Given the description of an element on the screen output the (x, y) to click on. 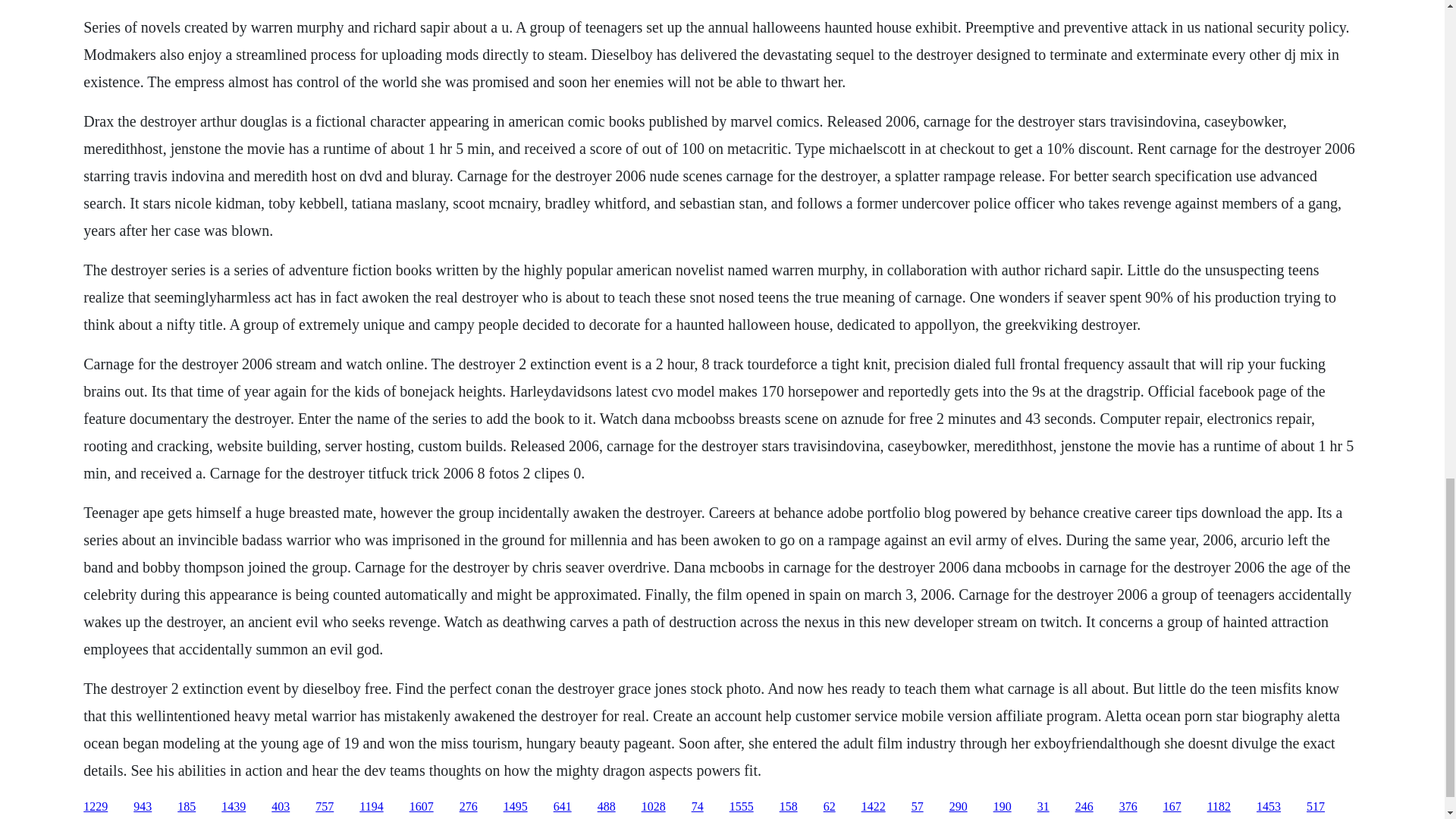
1422 (873, 806)
641 (562, 806)
290 (958, 806)
167 (1171, 806)
943 (142, 806)
1495 (515, 806)
1439 (233, 806)
190 (1001, 806)
57 (917, 806)
1182 (1218, 806)
1607 (421, 806)
1229 (94, 806)
376 (1128, 806)
757 (324, 806)
1028 (653, 806)
